Given the description of an element on the screen output the (x, y) to click on. 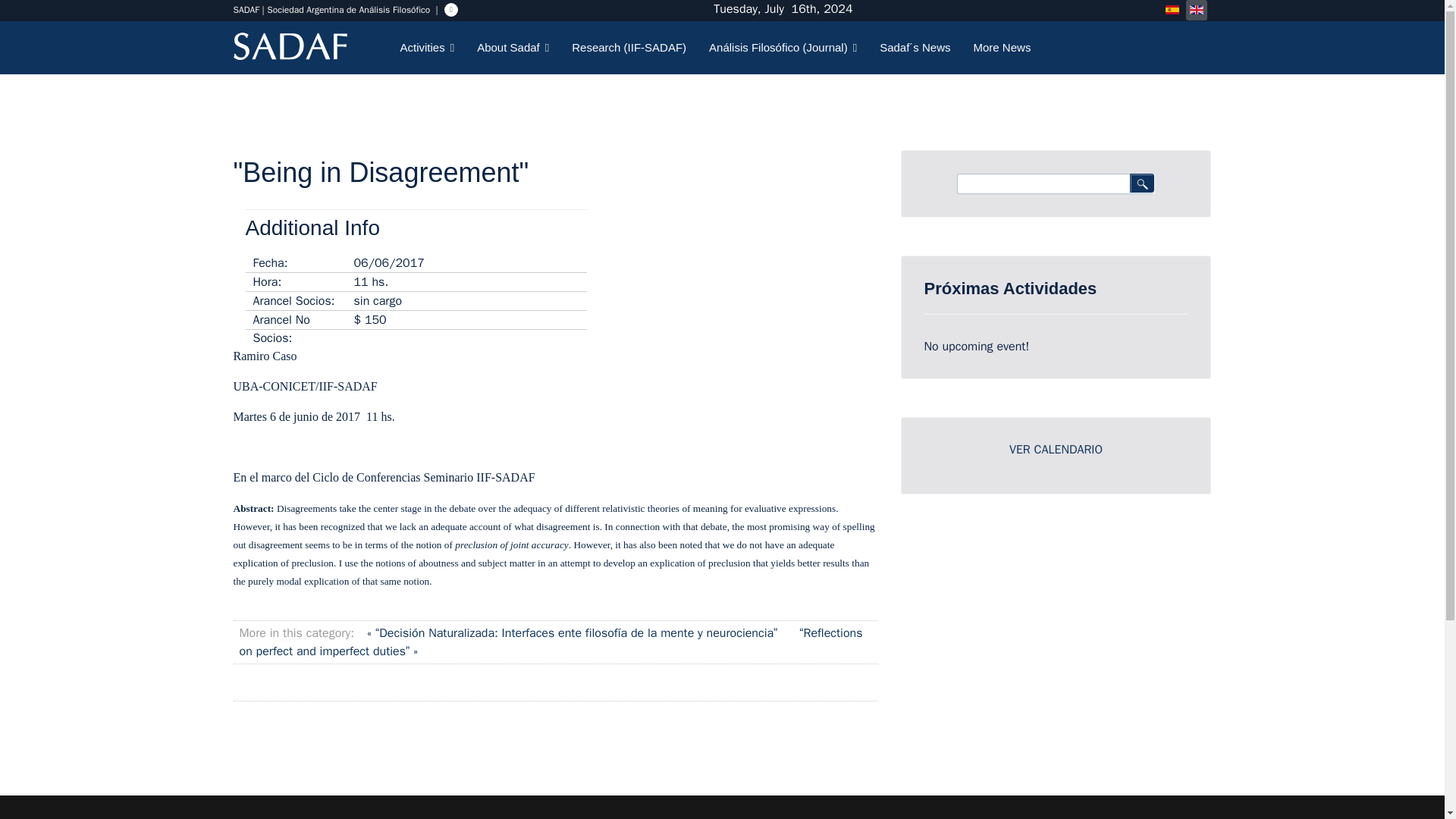
Activities (426, 47)
VER CALENDARIO (1055, 449)
About Sadaf (512, 47)
More News (996, 47)
